Given the description of an element on the screen output the (x, y) to click on. 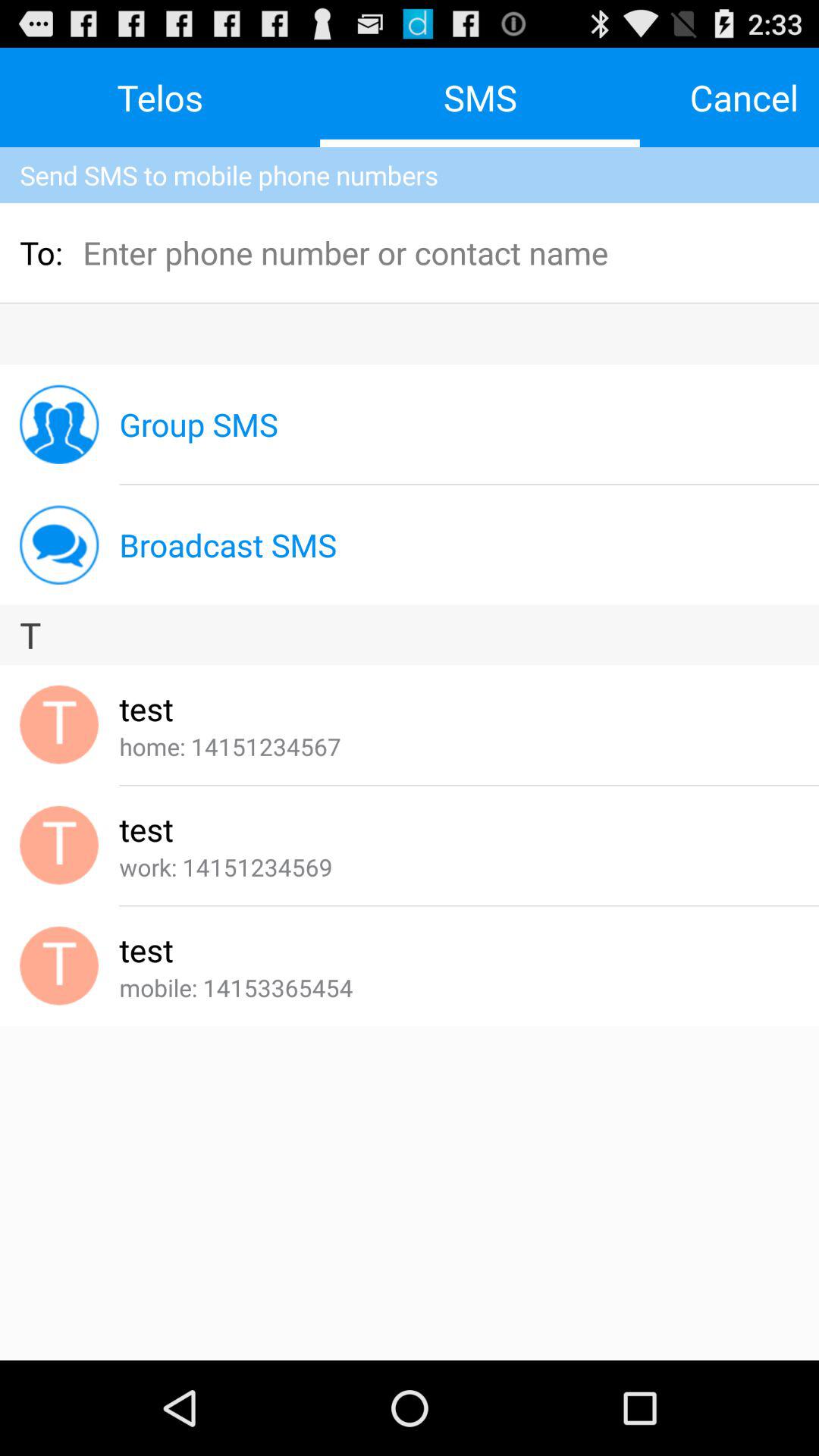
select the icon below the send sms to item (183, 252)
